Given the description of an element on the screen output the (x, y) to click on. 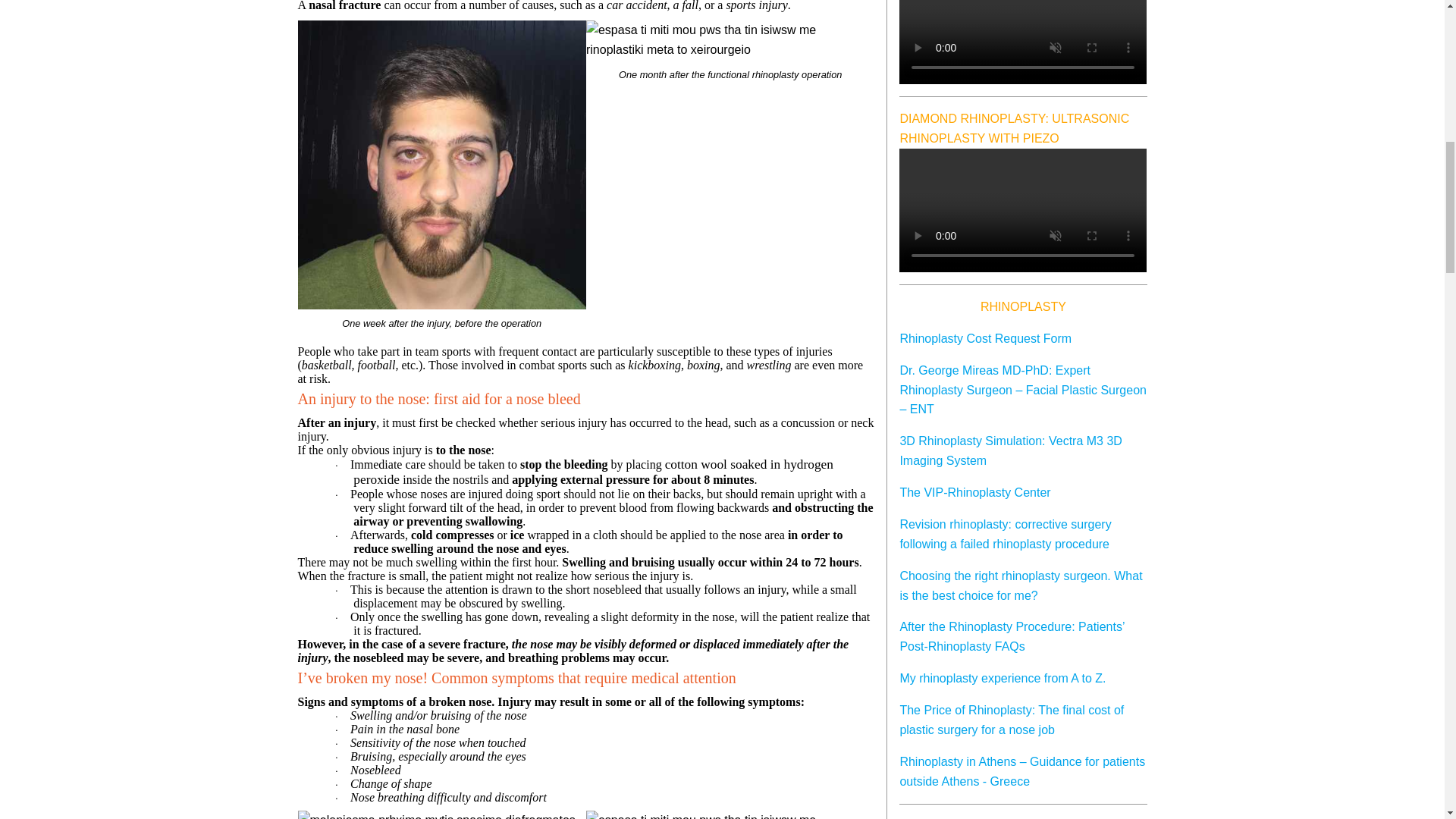
3D Rhinoplasty Simulation: Vectra M3 3D Imaging System (1010, 450)
My rhinoplasty experience from A to Z. (1002, 677)
The VIP-Rhinoplasty Center (974, 492)
Rhinoplasty (1023, 309)
DIAMOND RHINOPLASTY: ULTRASONIC RHINOPLASTY WITH PIEZO (1014, 128)
Rhinoplasty Cost Request Form (985, 338)
RHINOPLASTY (1023, 309)
